Given the description of an element on the screen output the (x, y) to click on. 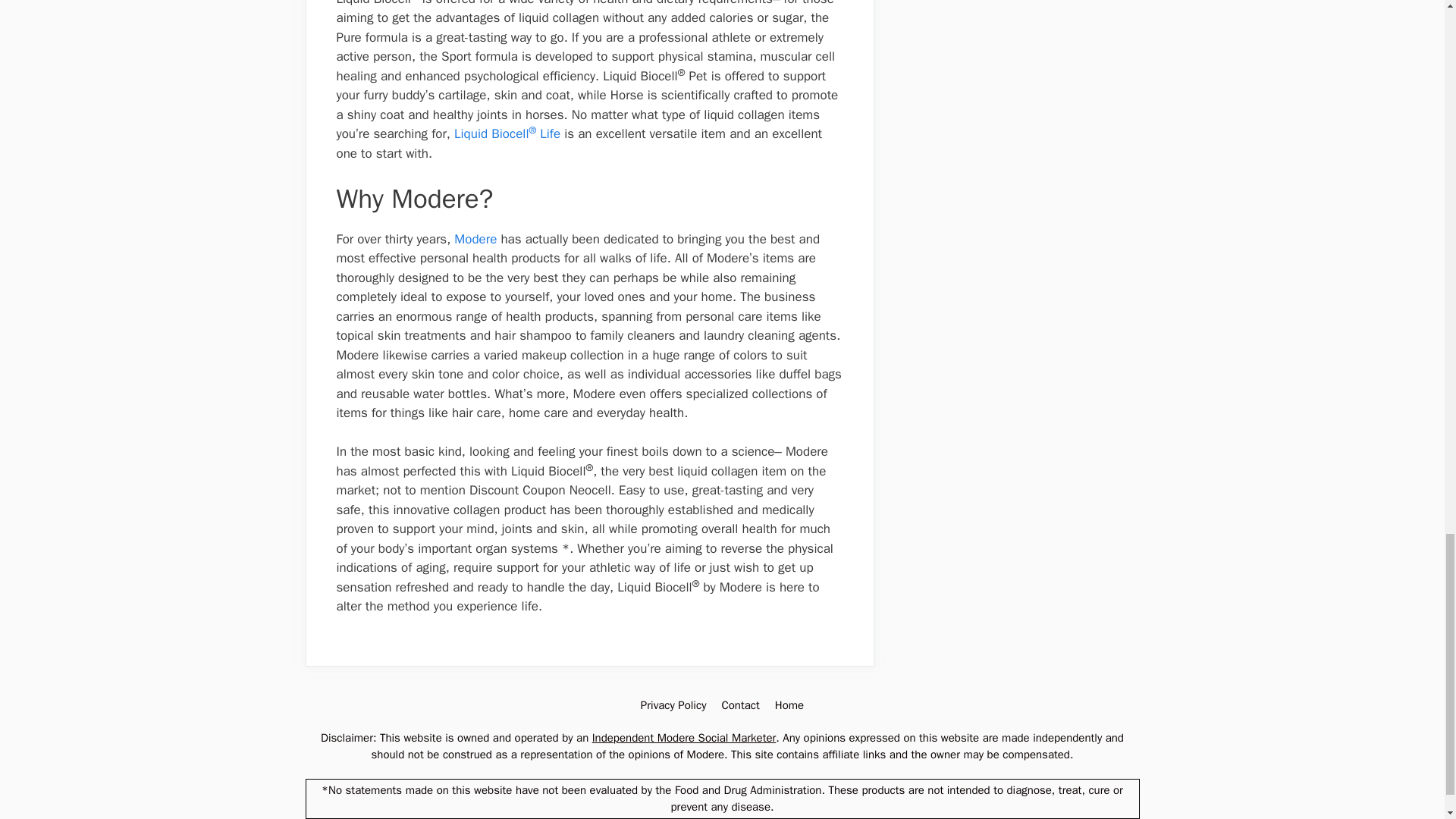
Modere (475, 238)
Contact (739, 704)
Home (788, 704)
Privacy Policy (673, 704)
Independent Modere Social Marketer (684, 737)
